Given the description of an element on the screen output the (x, y) to click on. 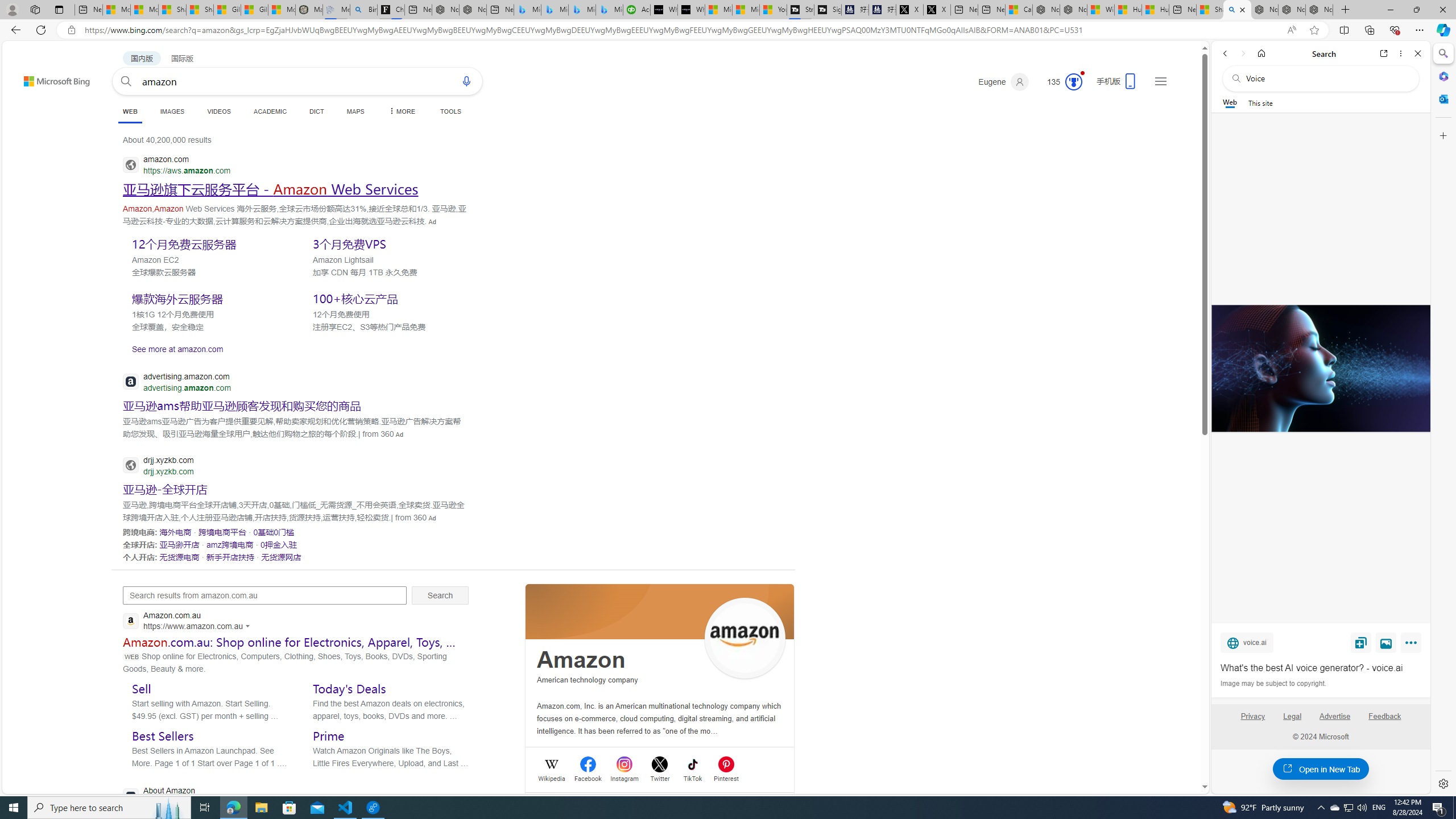
SERP,5570 (229, 544)
SERP,5550 (207, 243)
Advertise (1335, 715)
See more images of Amazon (745, 638)
Microsoft Bing Travel - Shangri-La Hotel Bangkok (609, 9)
Settings (1442, 783)
Amazon.com.au (189, 621)
See more at amazon.com (295, 348)
Streaming Coverage | T3 (799, 9)
See more images of Amazon (745, 638)
MORE (400, 111)
More (1413, 644)
Best Sellers (162, 735)
Nordace - #1 Japanese Best-Seller - Siena Smart Backpack (473, 9)
